Given the description of an element on the screen output the (x, y) to click on. 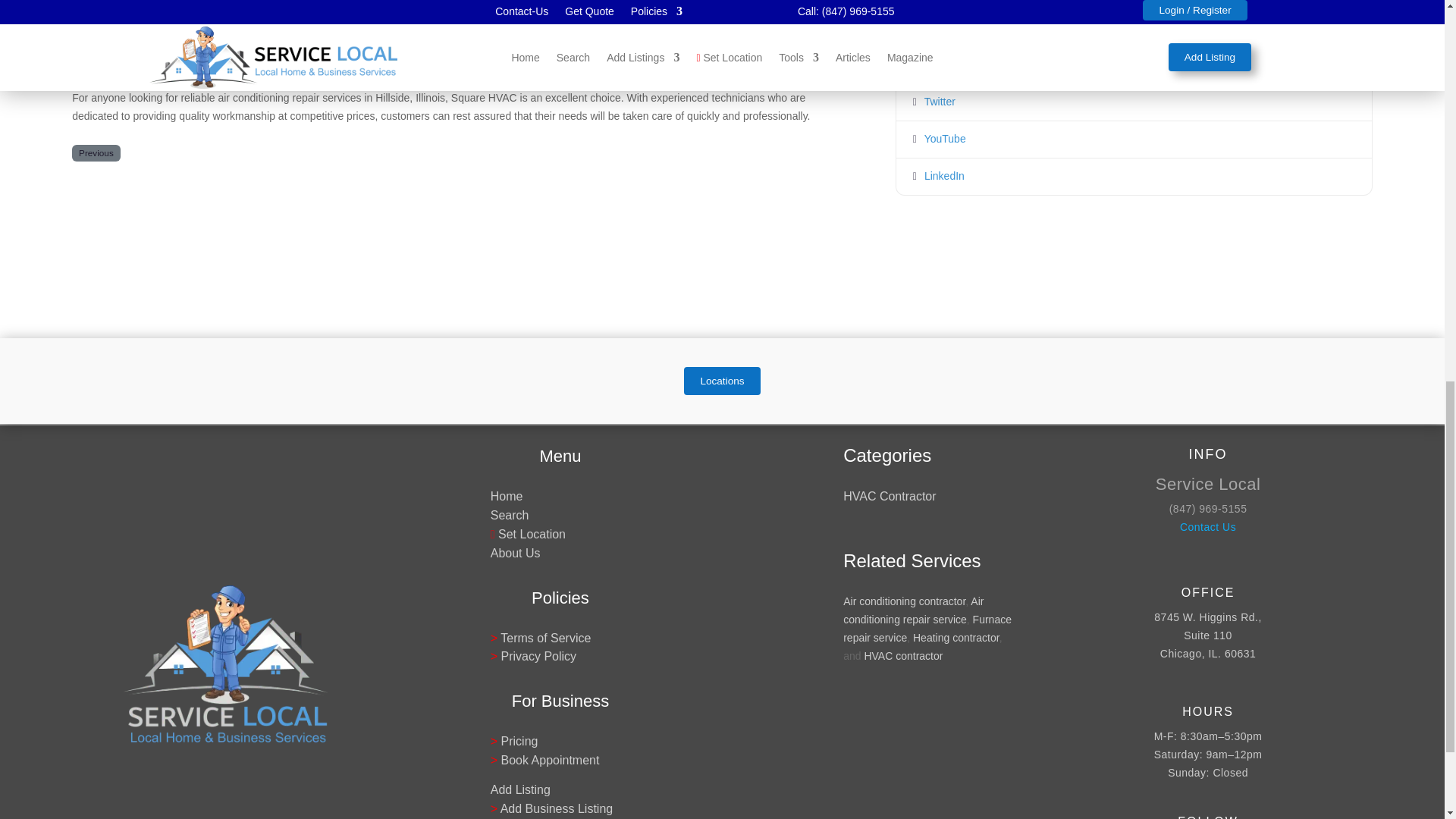
Footer Logo (225, 663)
